Given the description of an element on the screen output the (x, y) to click on. 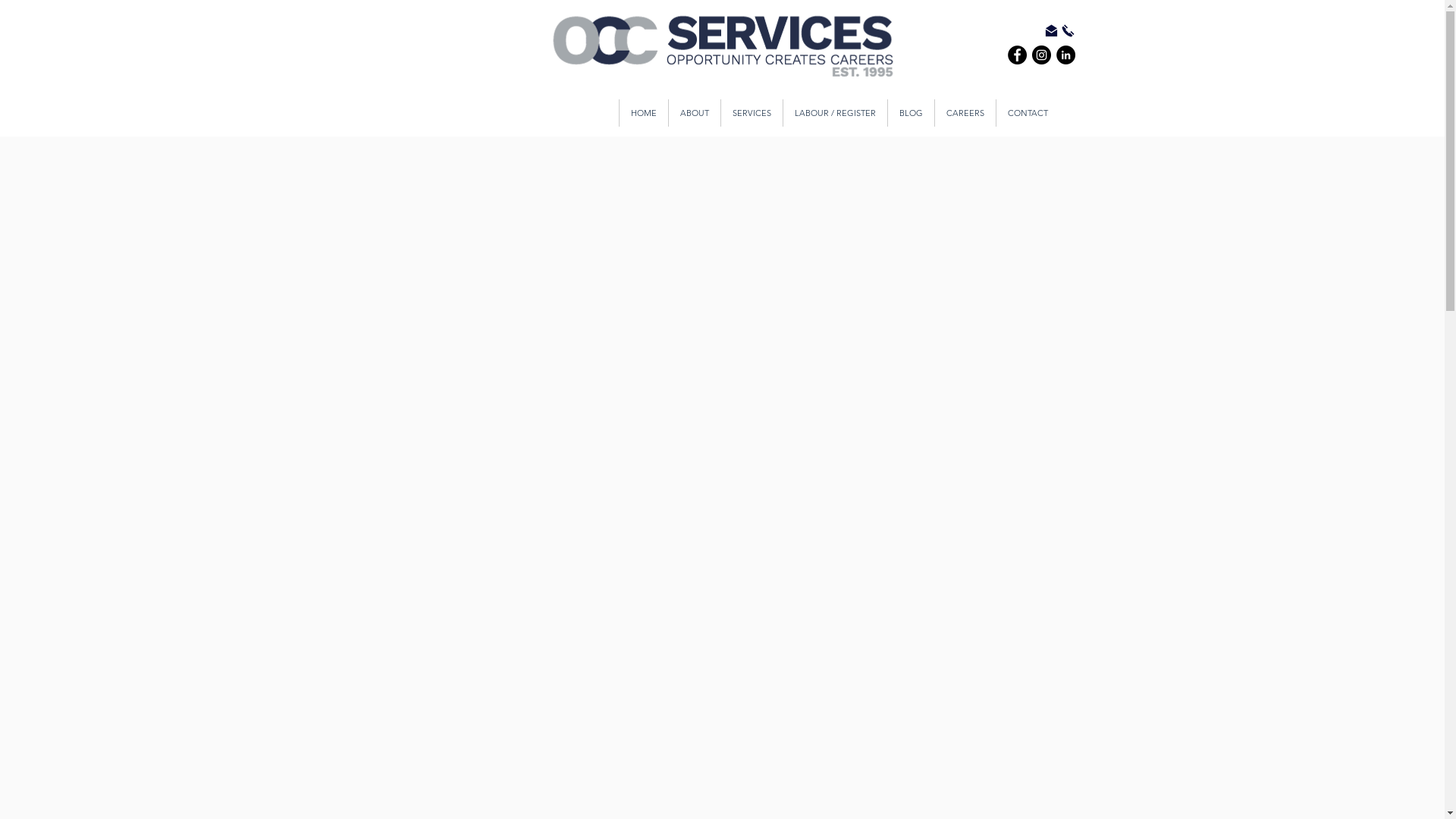
LABOUR / REGISTER Element type: text (834, 112)
HOME Element type: text (643, 112)
BLOG Element type: text (910, 112)
ABOUT Element type: text (693, 112)
CAREERS Element type: text (964, 112)
CONTACT Element type: text (1026, 112)
